Given the description of an element on the screen output the (x, y) to click on. 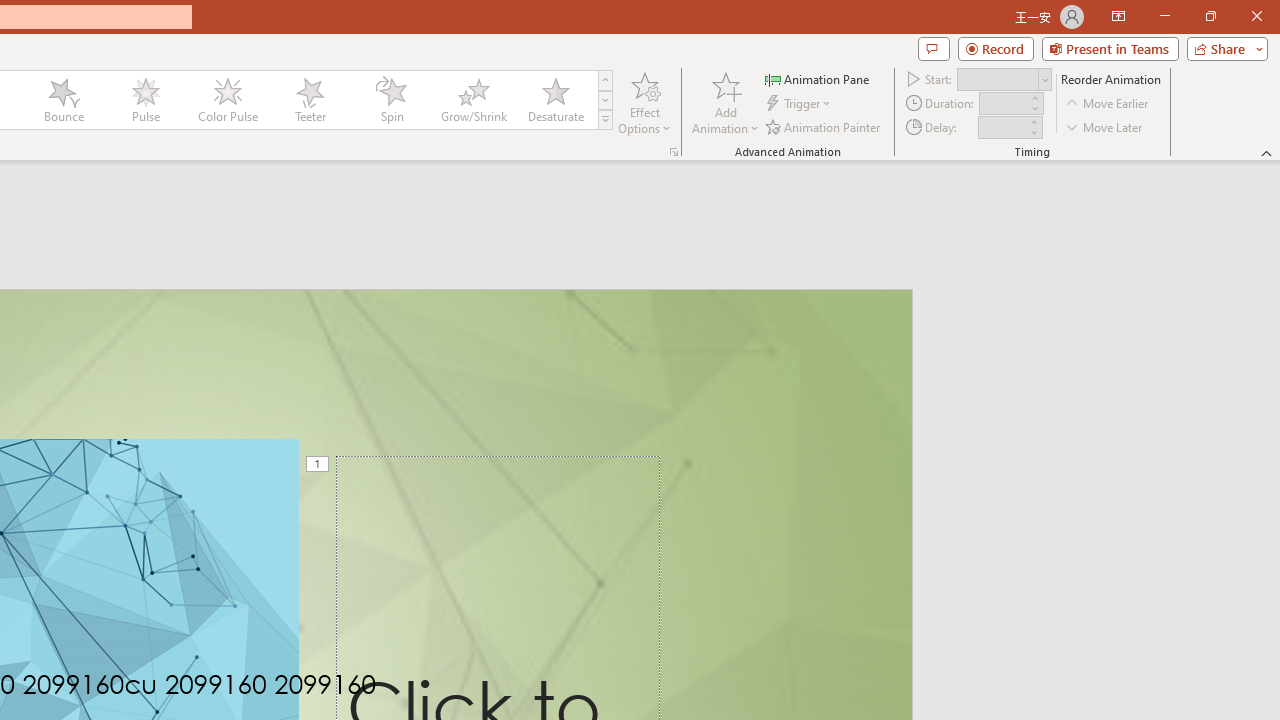
Animation Styles (605, 120)
Animation Pane (818, 78)
Animation Duration (1003, 103)
Animation Painter (824, 126)
Add Animation (725, 102)
Grow/Shrink (473, 100)
